Given the description of an element on the screen output the (x, y) to click on. 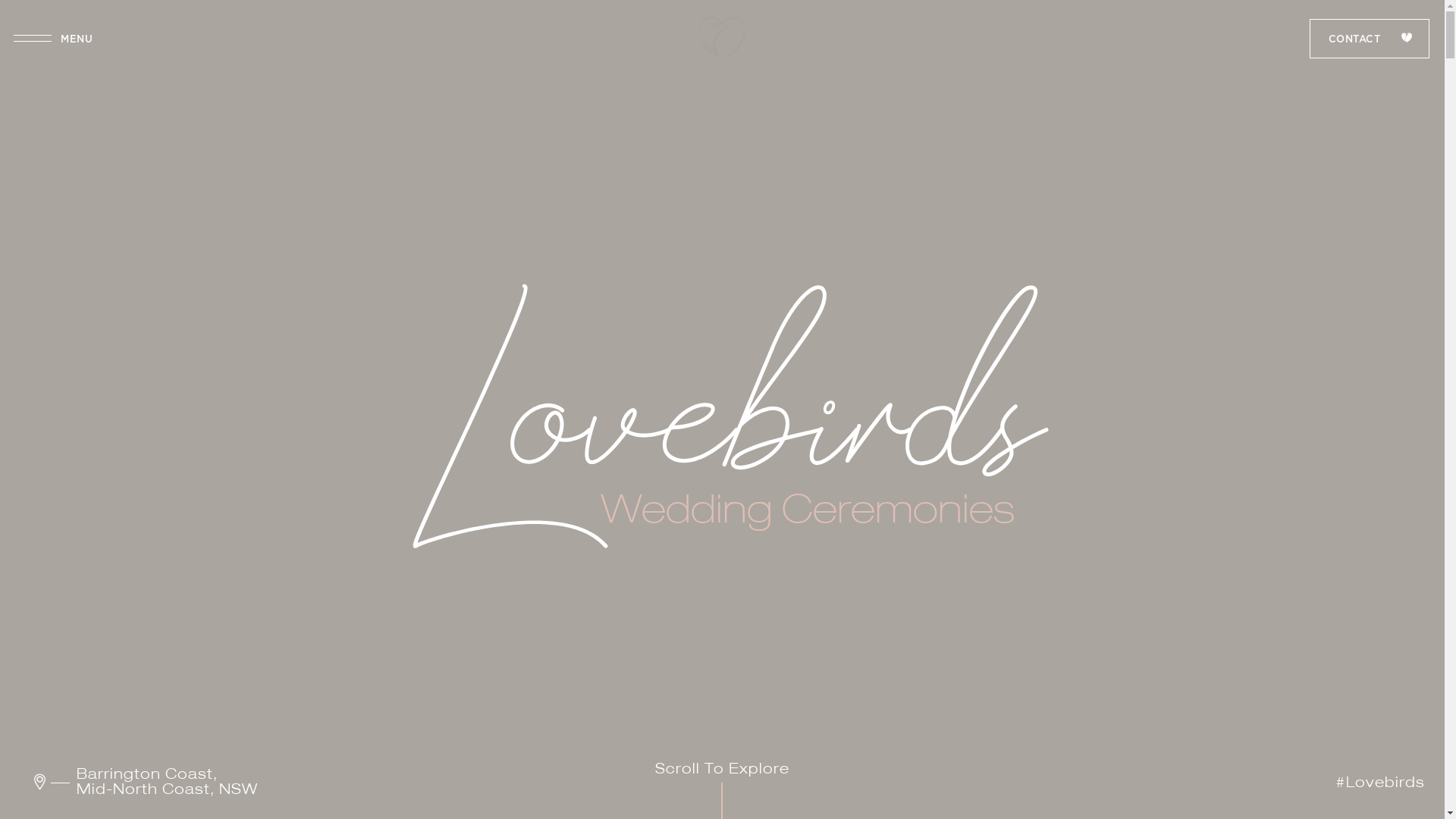
CONTACT Element type: text (1368, 38)
